Given the description of an element on the screen output the (x, y) to click on. 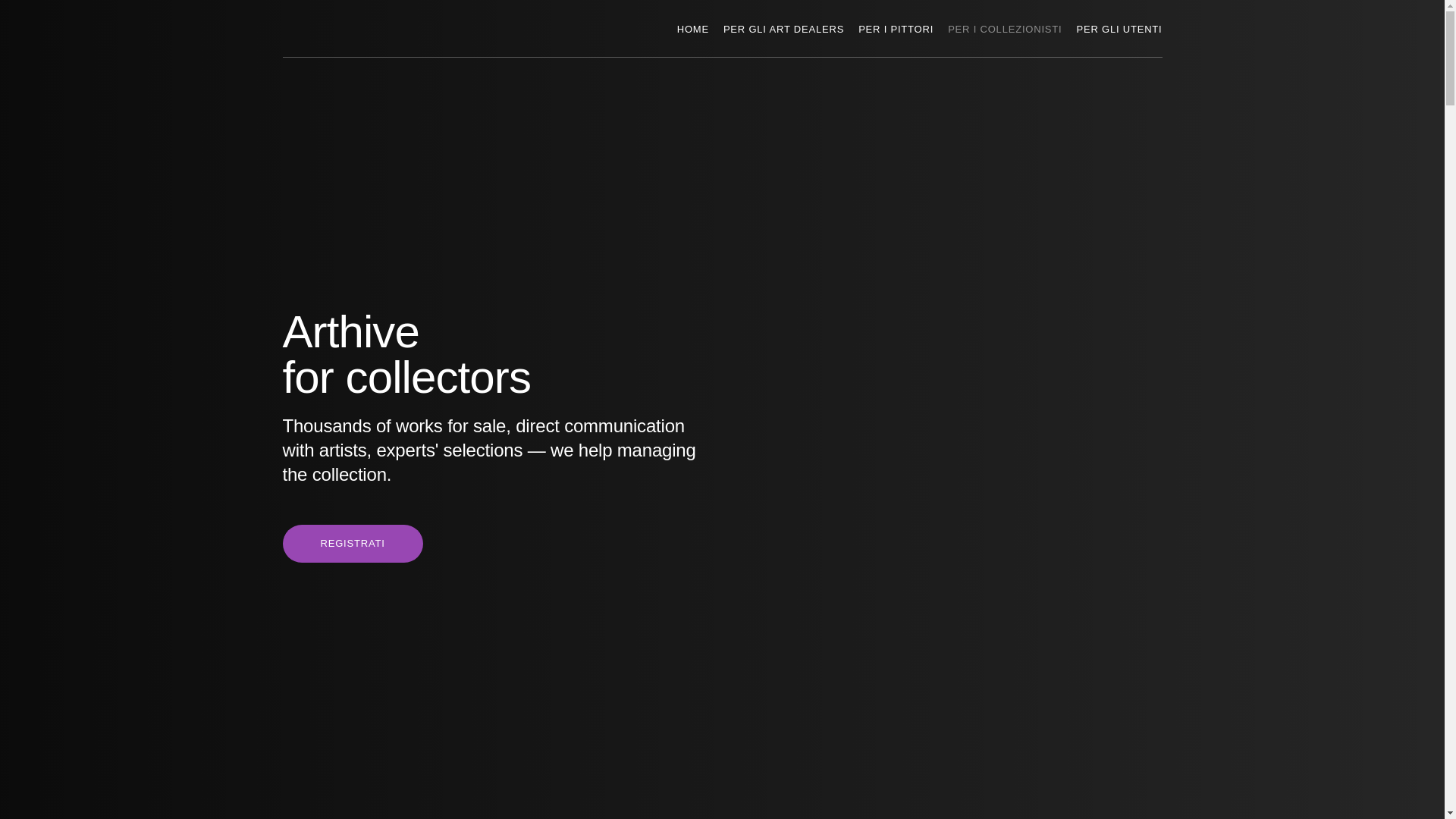
PER GLI ART DEALERS (783, 28)
HOME (693, 28)
PER I COLLEZIONISTI (1004, 28)
PER I PITTORI (896, 28)
PER GLI UTENTI (1118, 28)
REGISTRATI (352, 543)
